Given the description of an element on the screen output the (x, y) to click on. 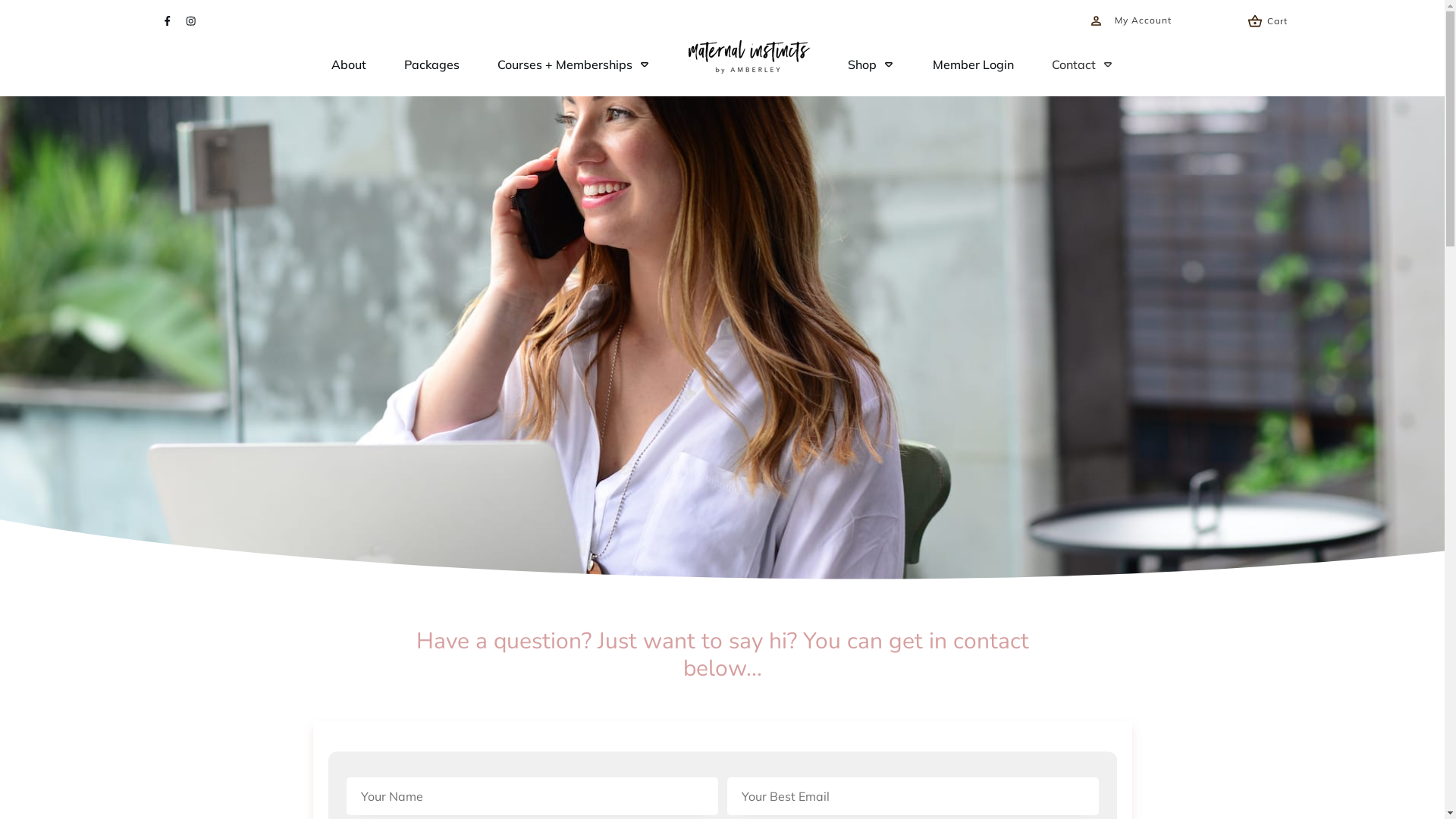
My Account Element type: text (1129, 20)
Member Login Element type: text (972, 64)
About Element type: text (347, 64)
Contact Element type: text (1082, 64)
Courses + Memberships Element type: text (573, 64)
Packages Element type: text (430, 64)
Shop Element type: text (870, 64)
